Given the description of an element on the screen output the (x, y) to click on. 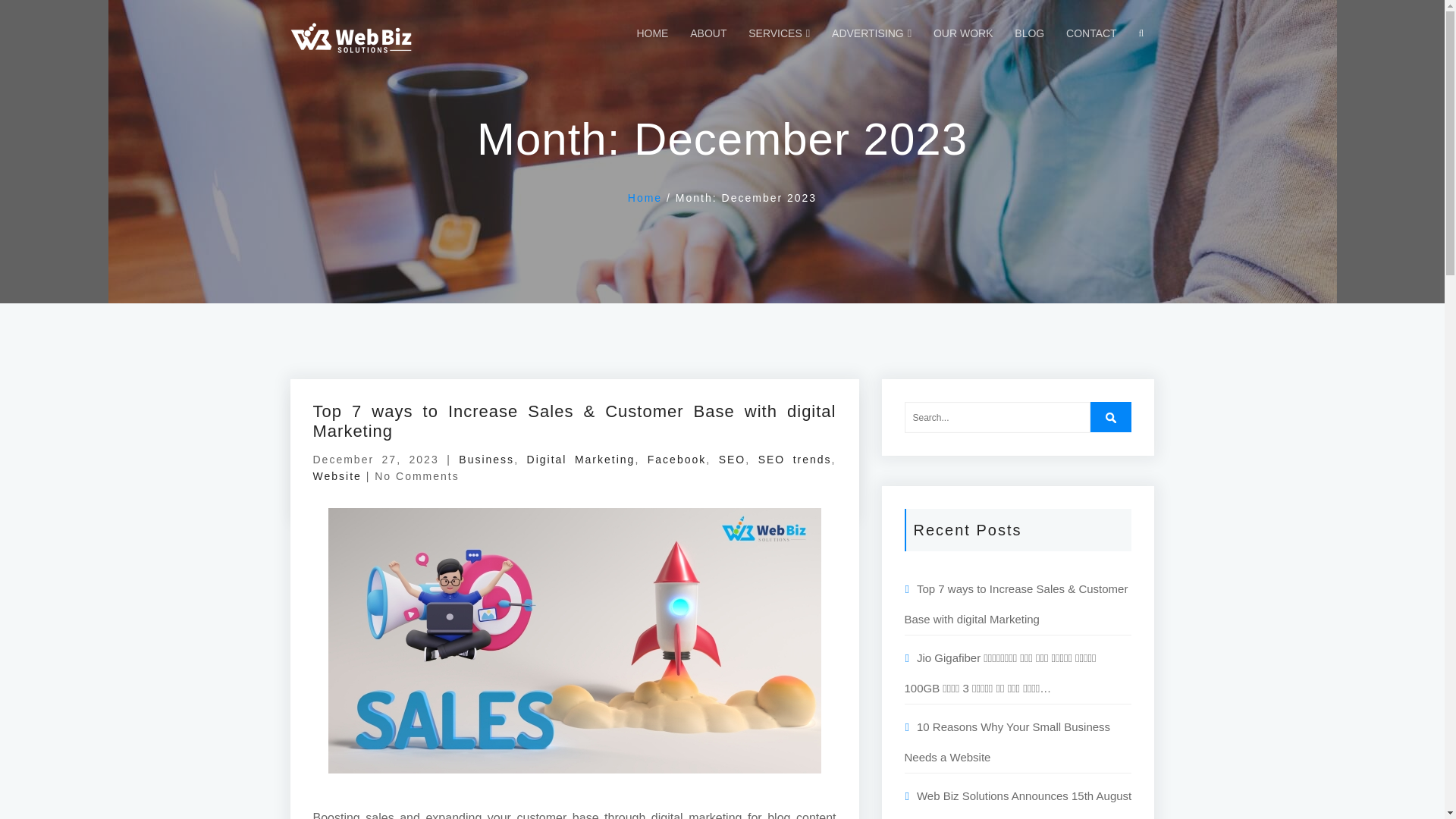
SEO trends (794, 459)
SEO (732, 459)
Business (485, 459)
OUR WORK (962, 33)
Facebook (676, 459)
HOME (652, 33)
BLOG (1028, 33)
Search (1110, 417)
Website (337, 476)
CONTACT (1090, 33)
SERVICES (778, 33)
Digital Marketing (580, 459)
Home (644, 197)
Feature image (574, 640)
ABOUT (708, 33)
